Given the description of an element on the screen output the (x, y) to click on. 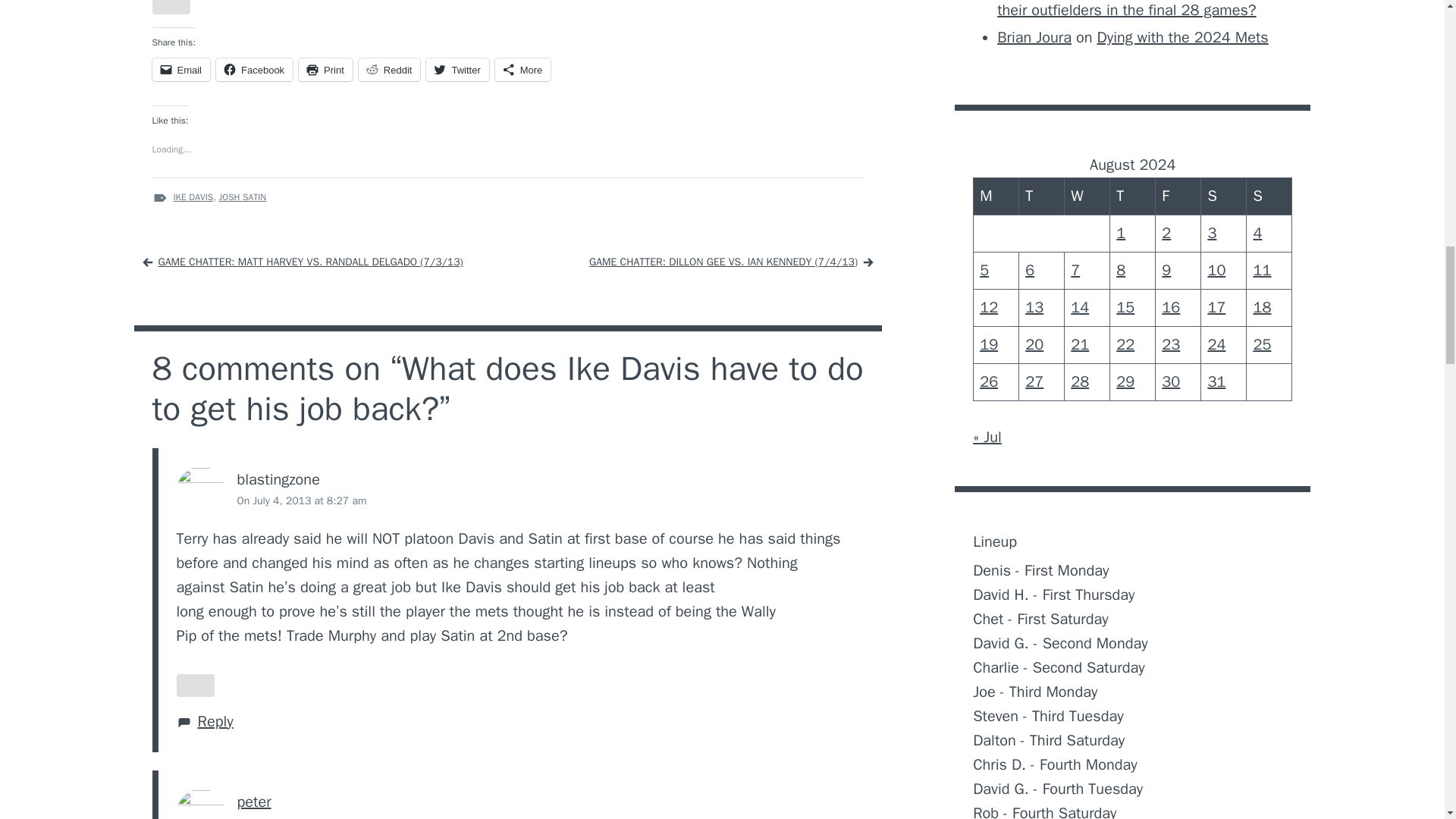
IKE DAVIS (192, 196)
JOSH SATIN (242, 196)
Click to share on Twitter (456, 69)
Reply (214, 721)
More (523, 69)
Reddit (389, 69)
Email (180, 69)
Click to share on Facebook (253, 69)
peter (252, 801)
Click to share on Reddit (389, 69)
